Given the description of an element on the screen output the (x, y) to click on. 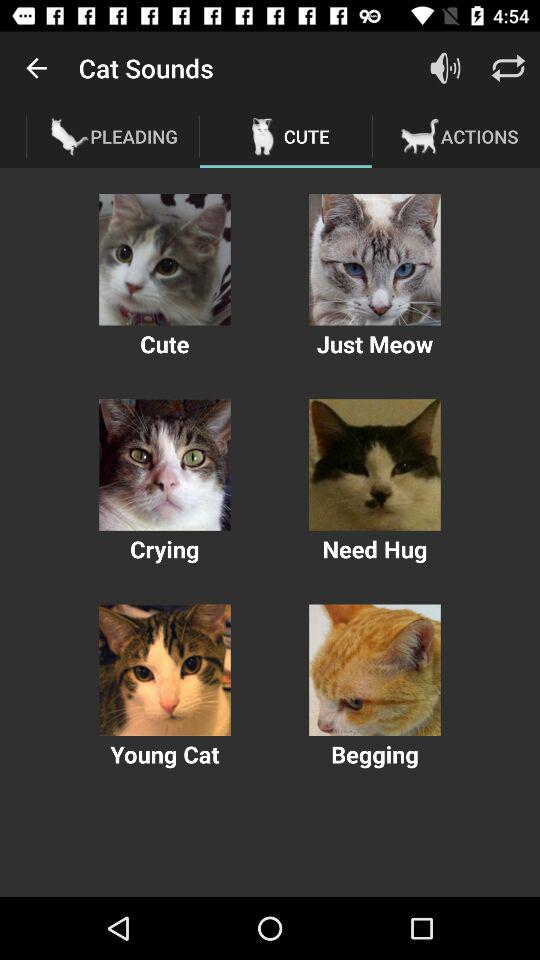
toggle cat photo (374, 259)
